Given the description of an element on the screen output the (x, y) to click on. 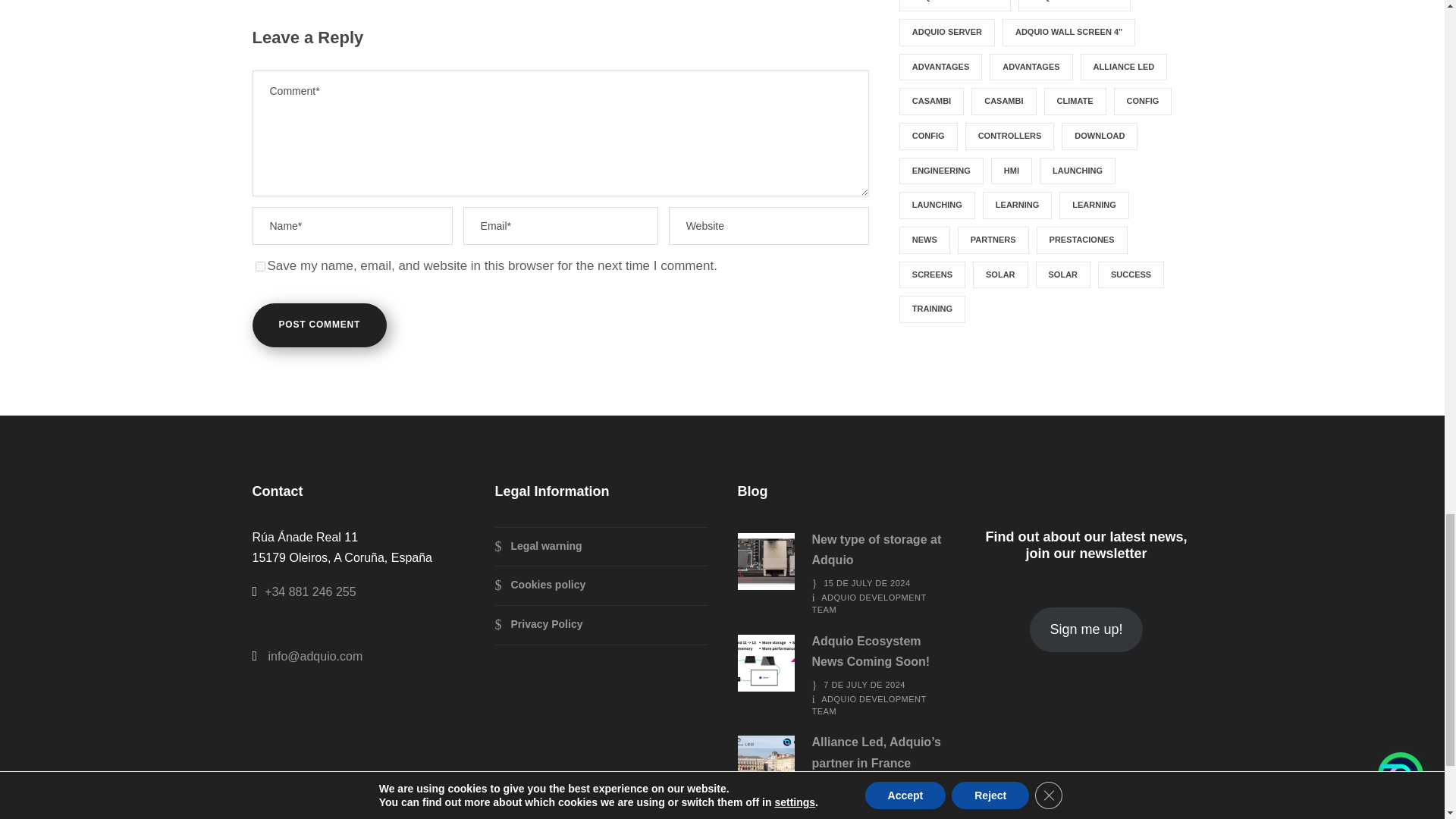
Post Comment (319, 325)
yes (259, 266)
